Given the description of an element on the screen output the (x, y) to click on. 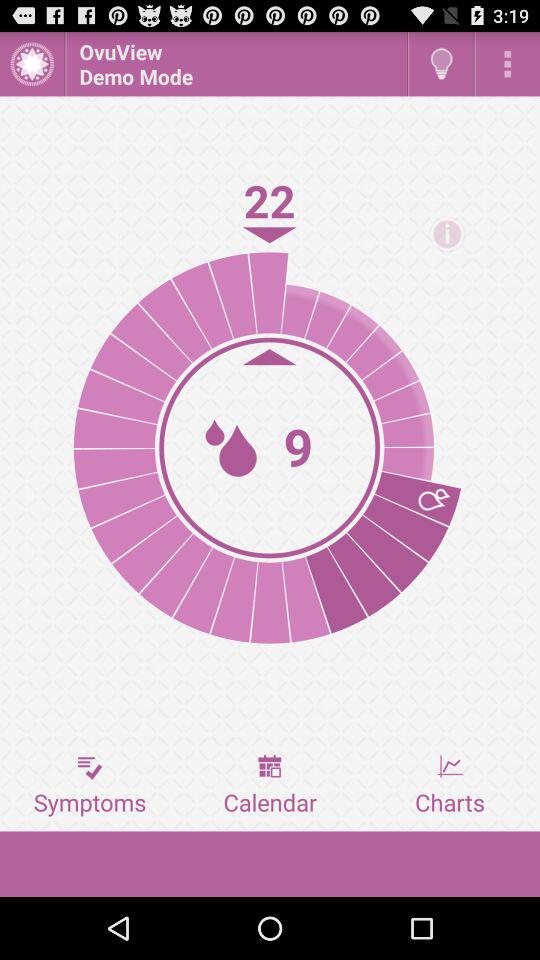
select the button to the right of symptoms icon (270, 785)
